Given the description of an element on the screen output the (x, y) to click on. 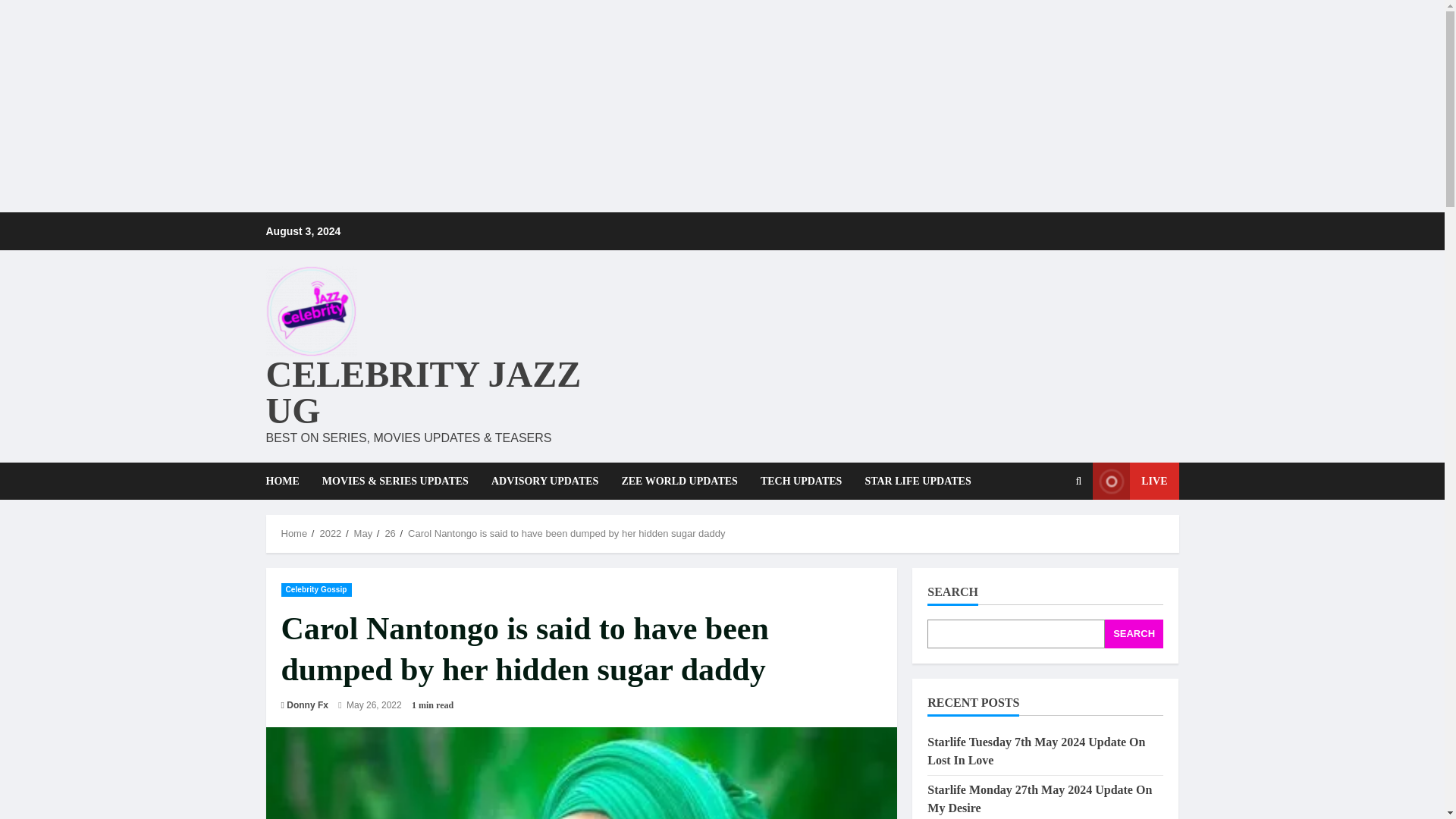
HOME (287, 480)
Home (294, 532)
ADVISORY UPDATES (545, 480)
Celebrity Gossip (315, 589)
STAR LIFE UPDATES (912, 480)
LIVE (1135, 480)
26 (389, 532)
TECH UPDATES (801, 480)
Search (1042, 532)
May (362, 532)
CELEBRITY JAZZ UG (422, 391)
2022 (329, 532)
ZEE WORLD UPDATES (679, 480)
